Given the description of an element on the screen output the (x, y) to click on. 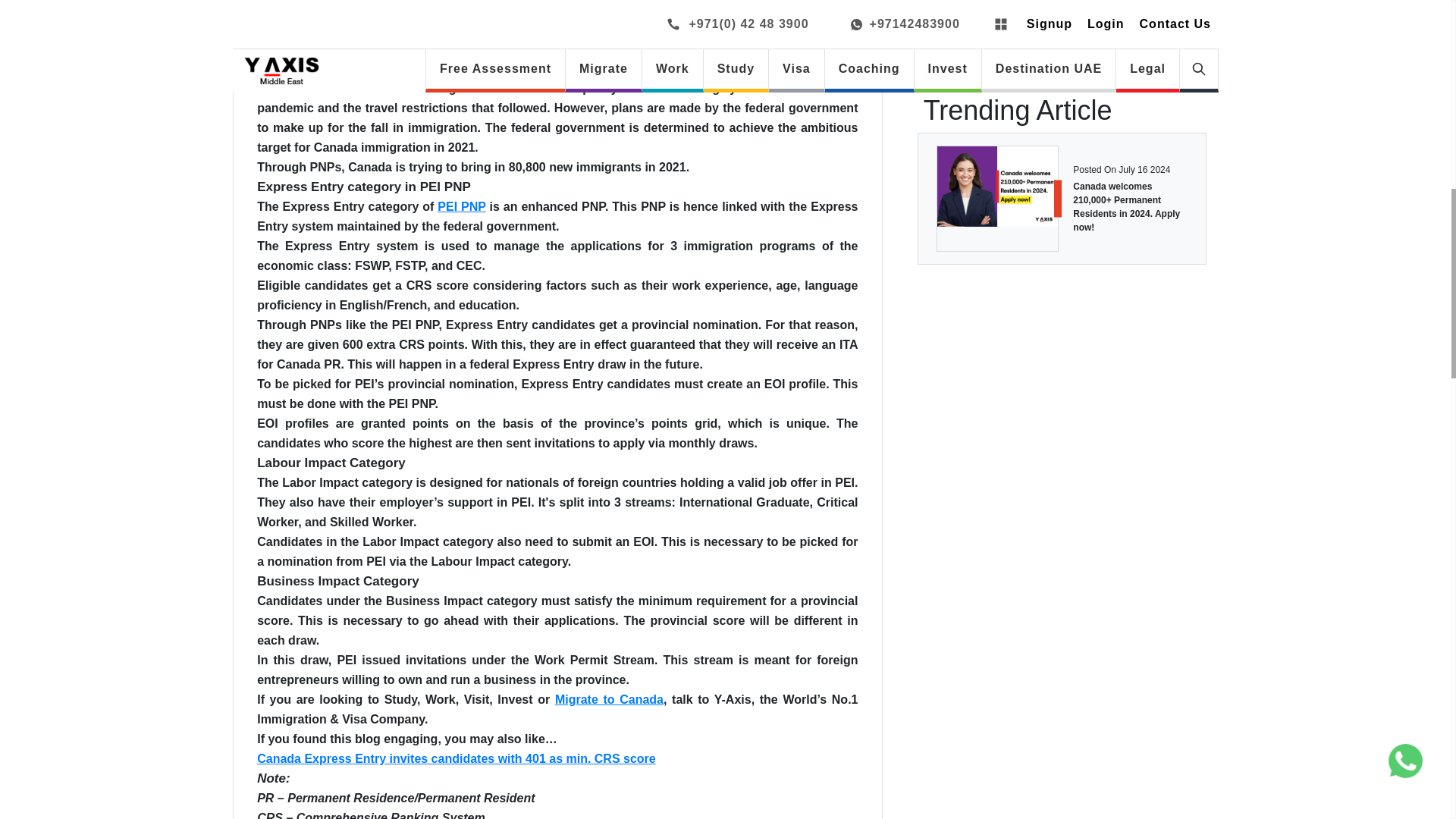
Migrate to Canada (608, 698)
PNPs (272, 29)
PEI PNP (461, 205)
